Given the description of an element on the screen output the (x, y) to click on. 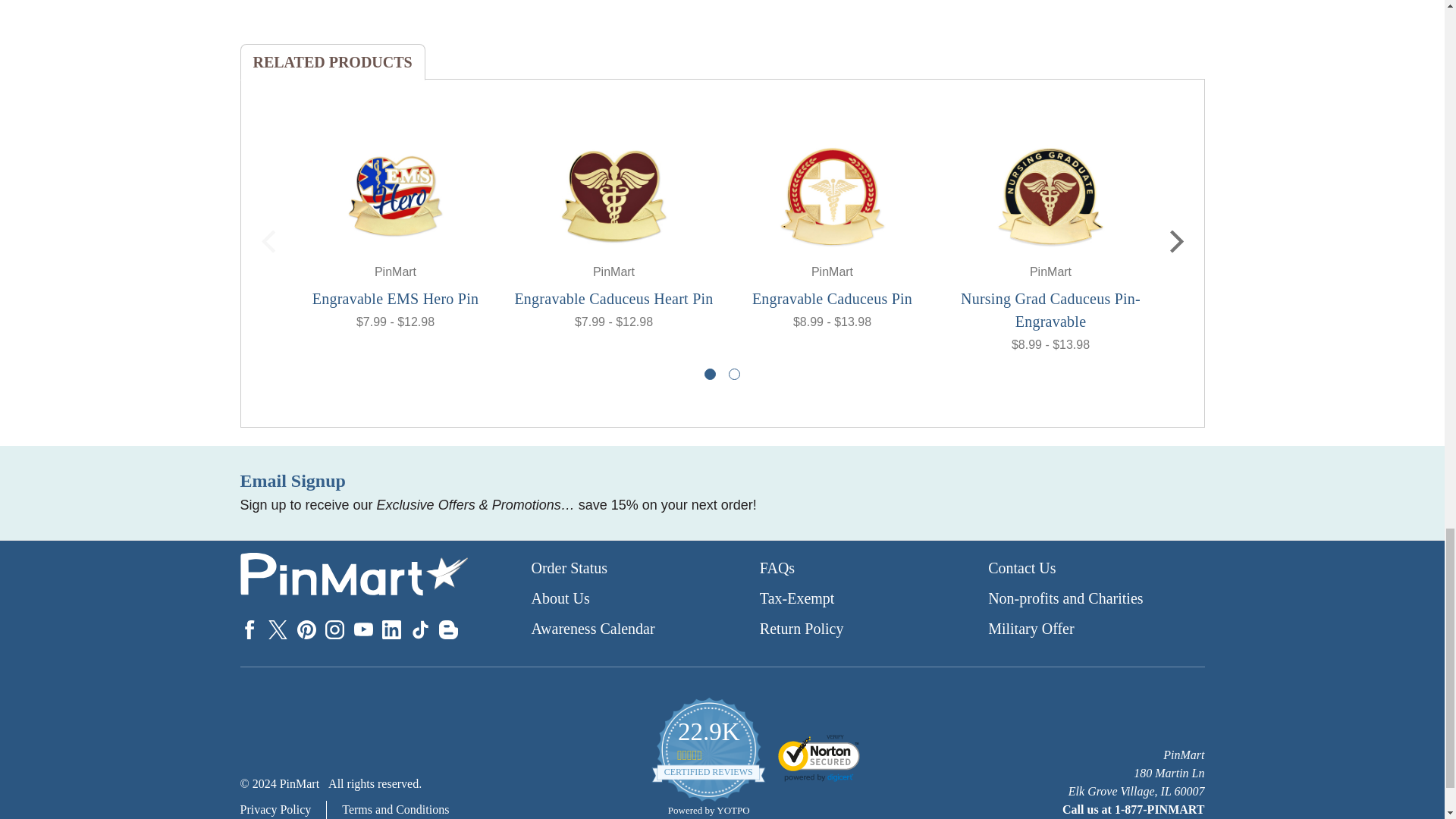
Engravable Caduceus Heart Pin Front (613, 196)
Engravable Caduceus Pin Front (831, 196)
Engravable EMS Hero Pin (395, 196)
Nursing Grad Caduceus Pin-Engravable Front (1050, 196)
